Given the description of an element on the screen output the (x, y) to click on. 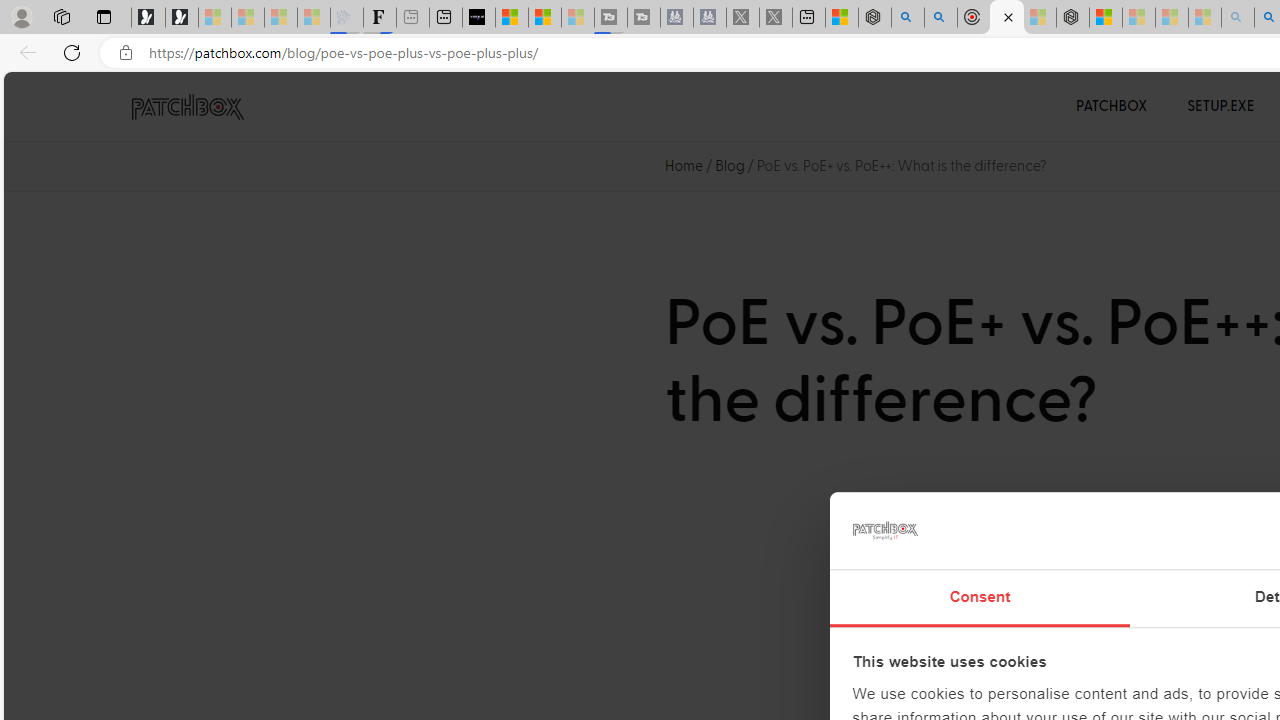
PATCHBOX - Simplify IT (187, 107)
Blog (729, 165)
PATCHBOX Simplify IT (200, 106)
SETUP.EXE (1220, 106)
